Given the description of an element on the screen output the (x, y) to click on. 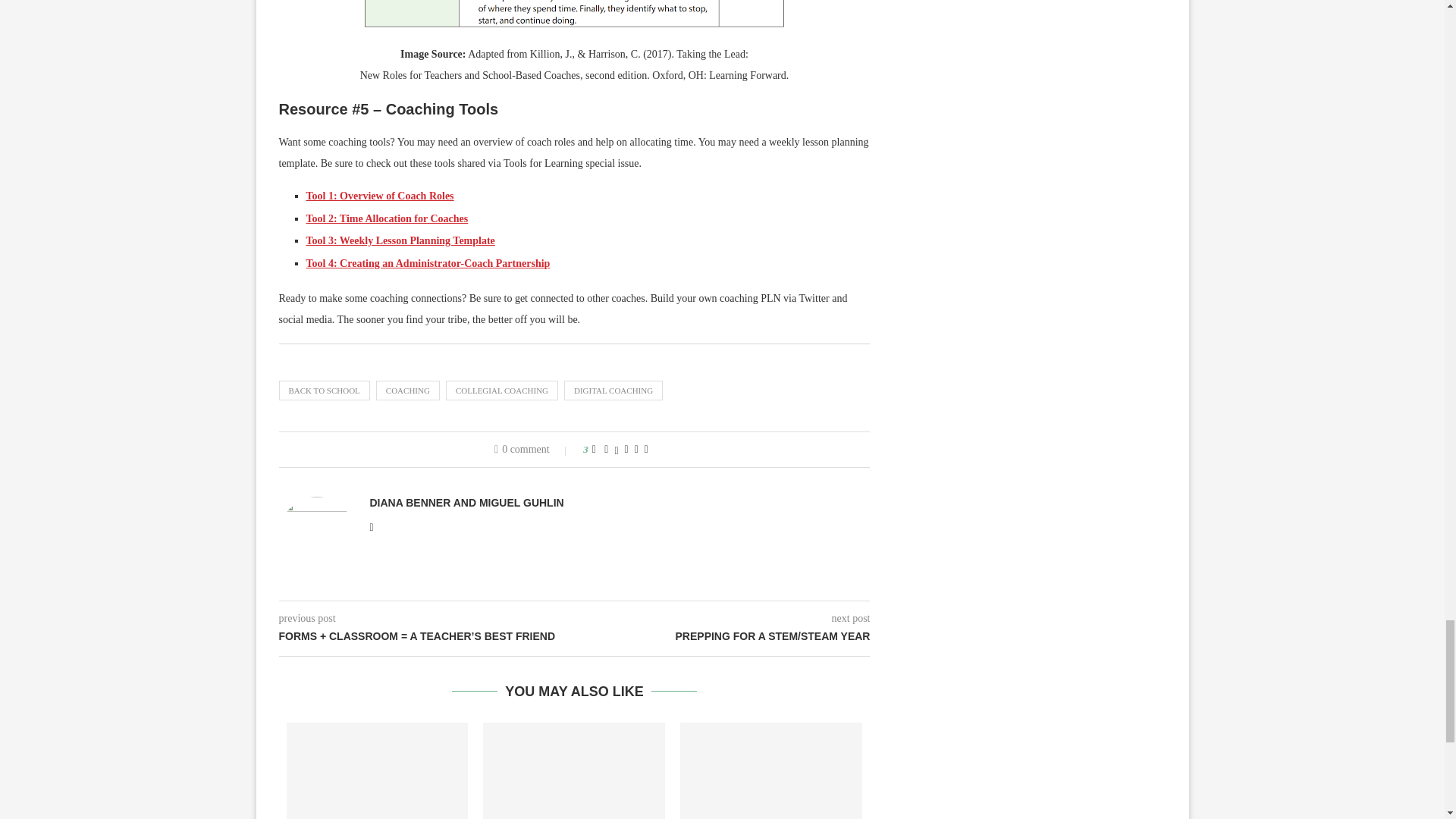
Introducing a Research-Based Coaching Cycle: TCEA EIIR (770, 770)
Your Technology Integration Guide: FAQs for Educators (377, 770)
Author Diana Benner and Miguel Guhlin (466, 502)
Checking In for Back to School (574, 770)
